Given the description of an element on the screen output the (x, y) to click on. 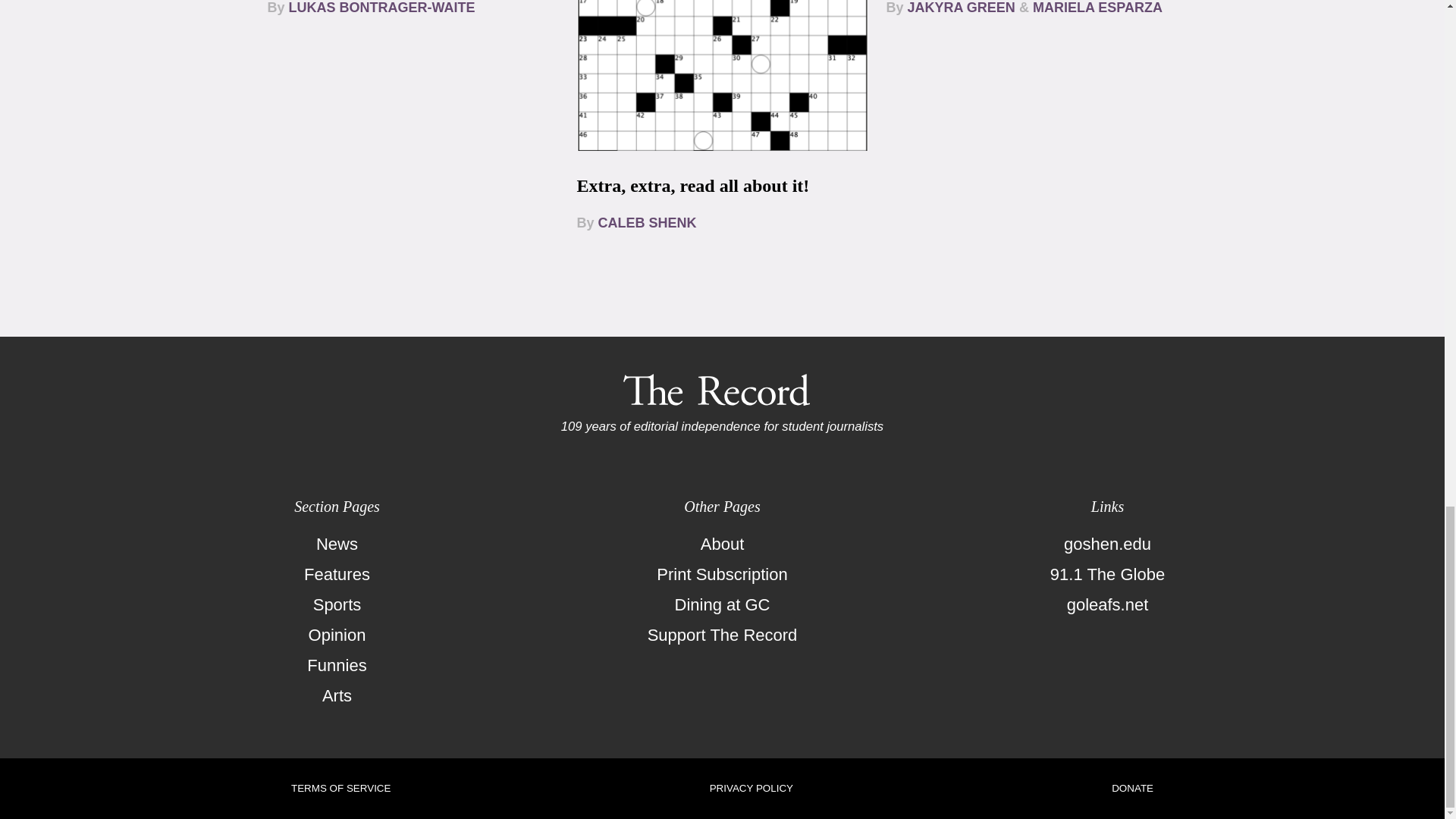
News (336, 544)
LUKAS BONTRAGER-WAITE (382, 7)
Arts (336, 695)
Extra, extra, read all about it! (692, 185)
Features (336, 574)
MARIELA ESPARZA (1096, 7)
Sports (336, 604)
About (722, 544)
Funnies (336, 665)
CALEB SHENK (647, 222)
